Given the description of an element on the screen output the (x, y) to click on. 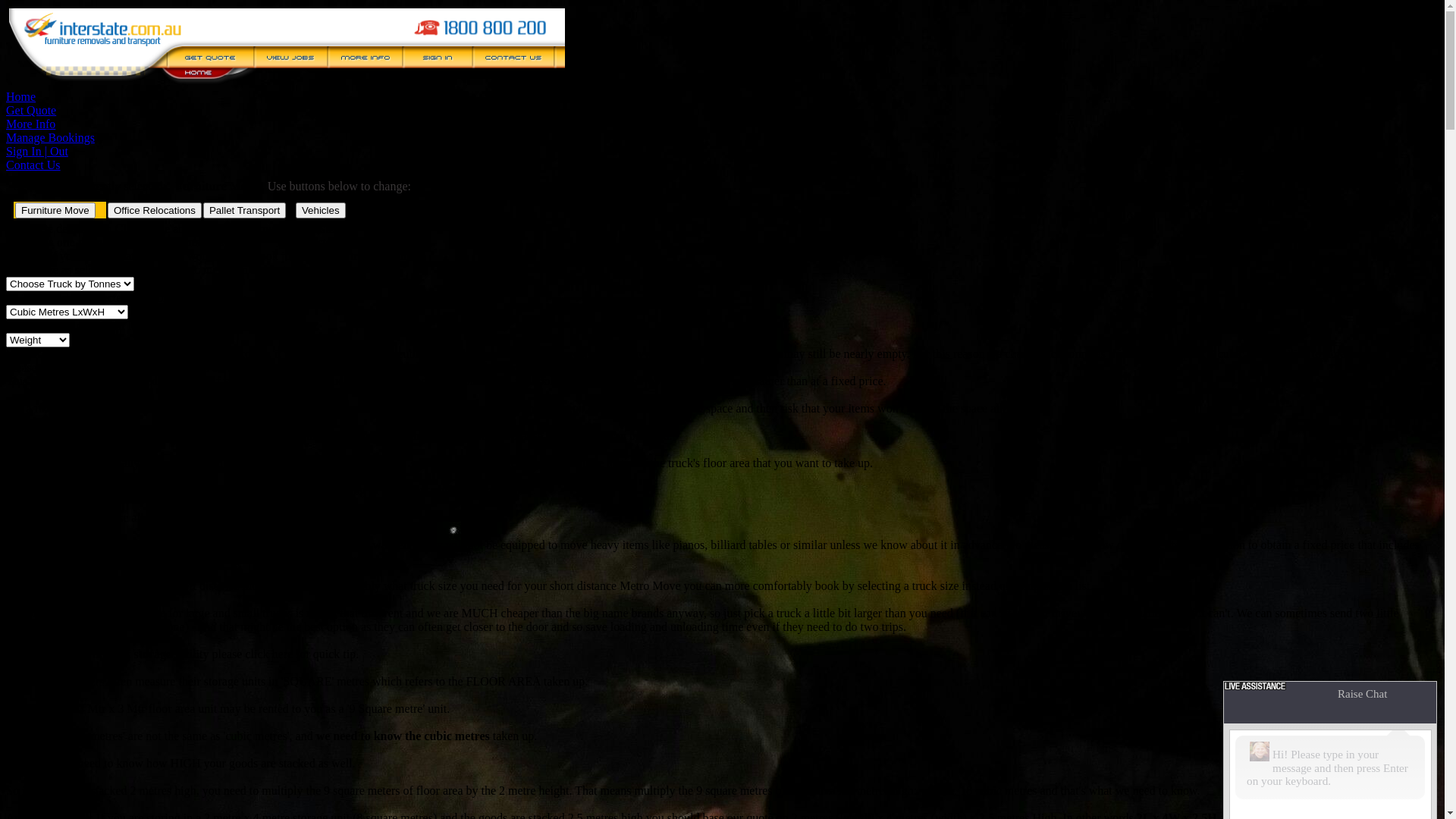
Furniture Move Element type: text (55, 210)
Contact Us Element type: text (33, 164)
Home Element type: text (20, 96)
Office Relocations Element type: text (154, 210)
Pallet Transport Element type: text (244, 210)
Sign In | Out Element type: text (37, 150)
Manage Bookings Element type: text (50, 137)
Get Quote Element type: text (31, 109)
Vehicles Element type: text (320, 210)
More Info Element type: text (30, 123)
